Given the description of an element on the screen output the (x, y) to click on. 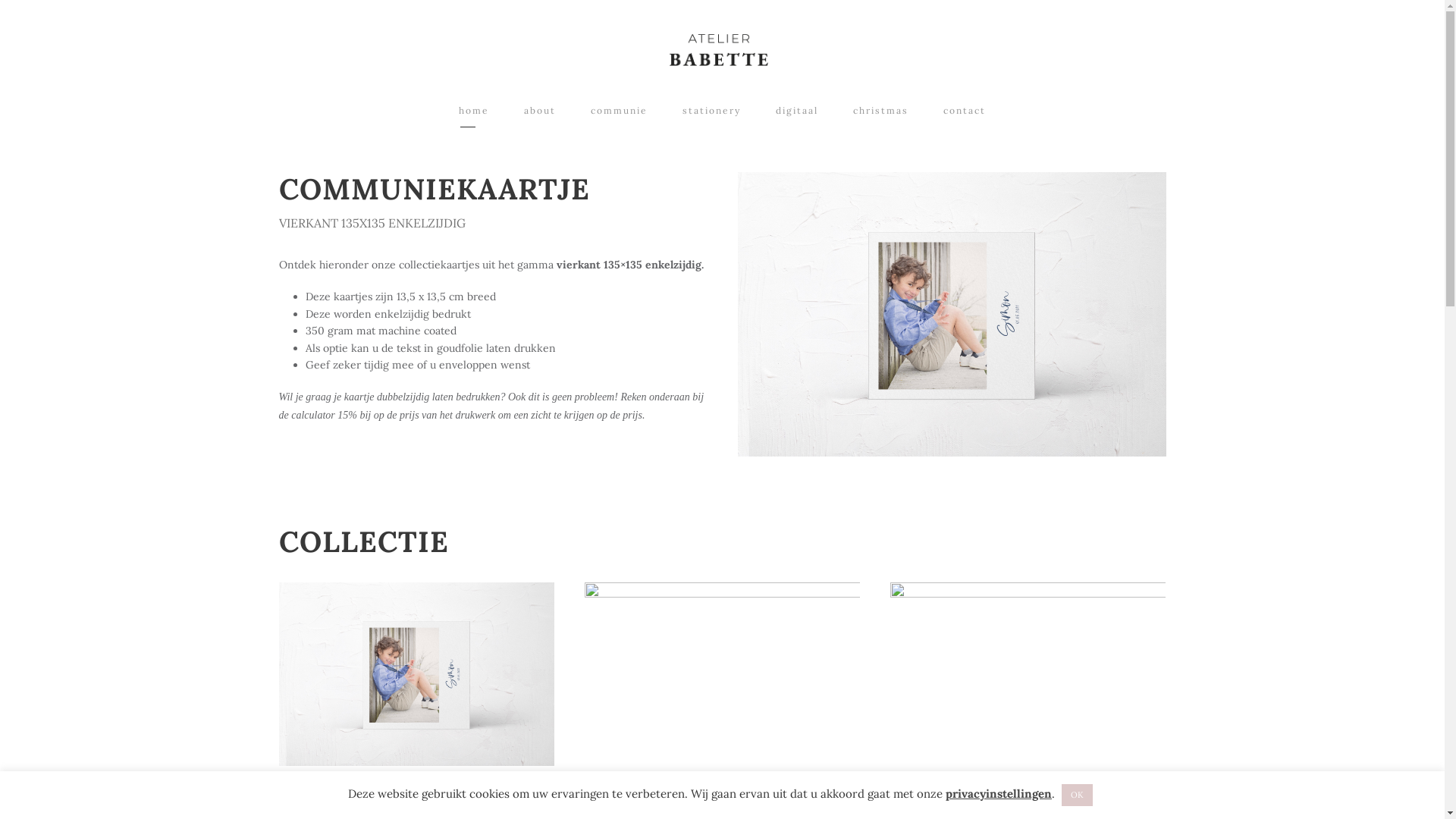
Communiekaart-Victor-vierkant148x148 Element type: hover (721, 673)
Communiekaart-Simon-vierkant148x148 Element type: hover (416, 673)
communie Element type: text (618, 114)
Communiekaart-Simon-vierkant148x148 Element type: hover (951, 314)
about Element type: text (539, 114)
contact Element type: text (964, 114)
christmas Element type: text (880, 114)
digitaal Element type: text (796, 114)
privacyinstellingen Element type: text (998, 793)
home Element type: text (473, 114)
Communiekaart-Laure3-vierkant148x148 Element type: hover (1027, 673)
OK Element type: text (1076, 795)
Logo_AtelierBabette Element type: hover (717, 49)
stationery Element type: text (711, 114)
